Given the description of an element on the screen output the (x, y) to click on. 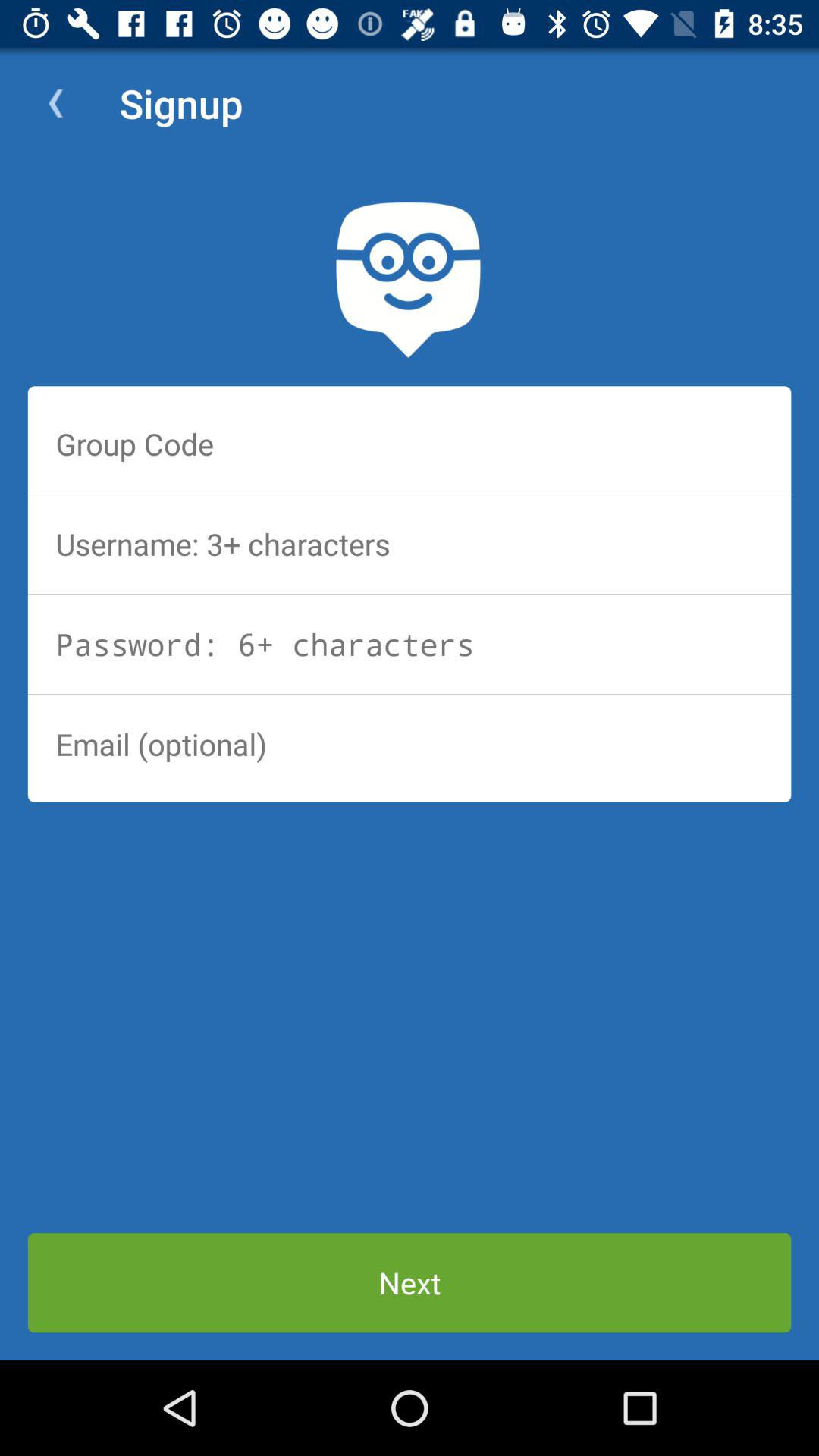
enter the group code (409, 443)
